Given the description of an element on the screen output the (x, y) to click on. 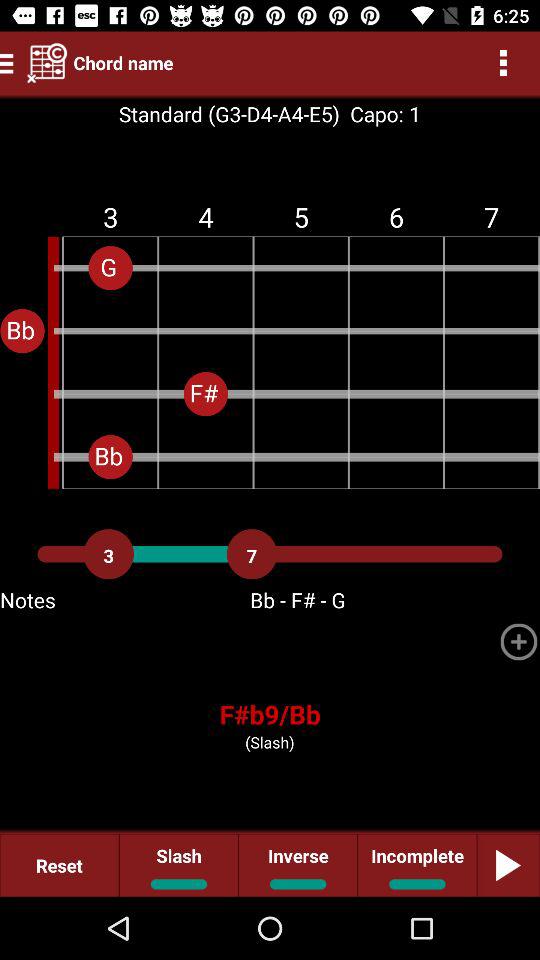
swipe to the f#b9/bb (270, 713)
